Given the description of an element on the screen output the (x, y) to click on. 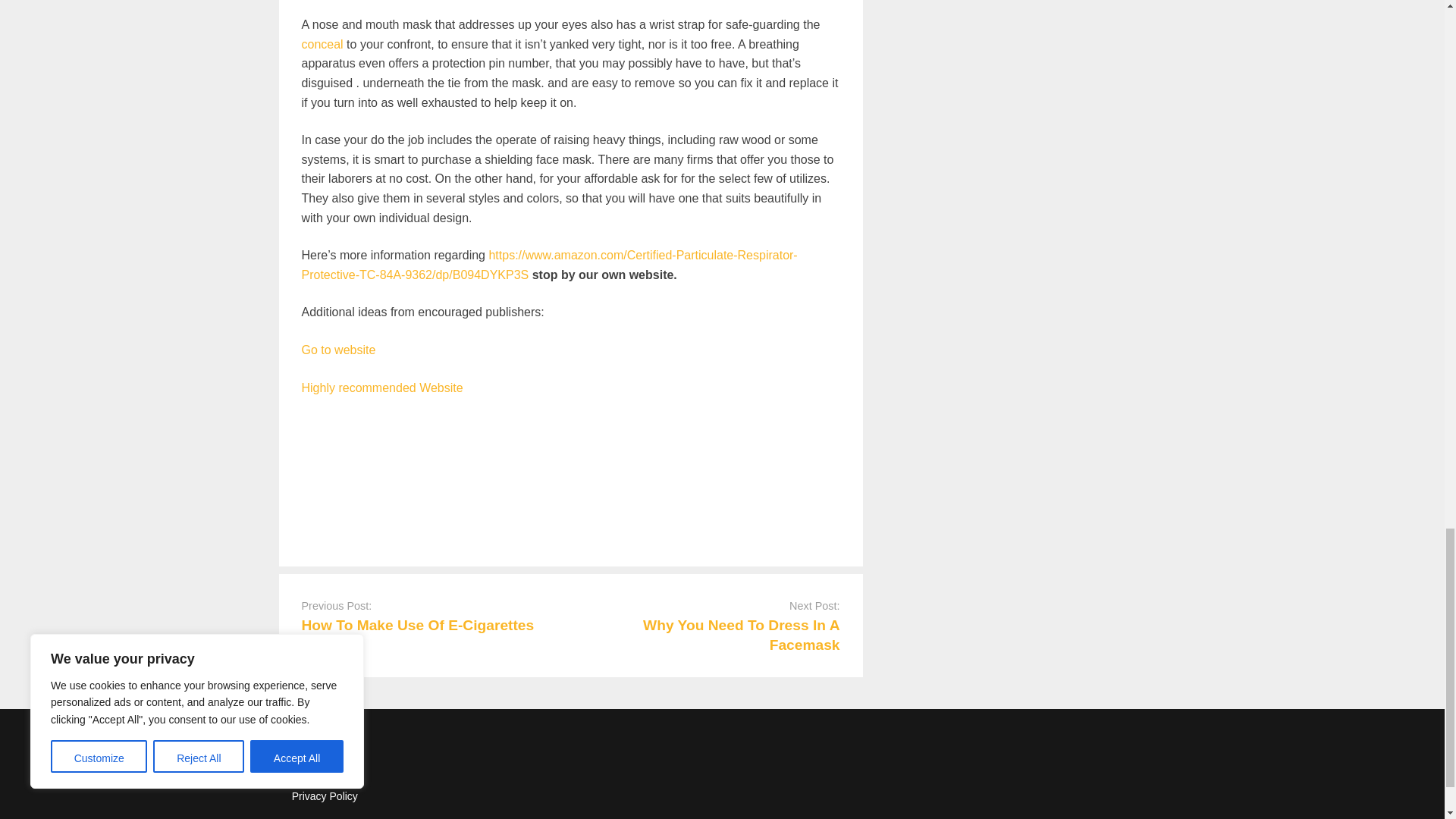
Go to website (338, 349)
Why You Need To Dress In A Facemask (741, 634)
conceal (322, 43)
Highly recommended Website (382, 387)
How To Make Use Of E-Cigarettes Properly (417, 634)
